Given the description of an element on the screen output the (x, y) to click on. 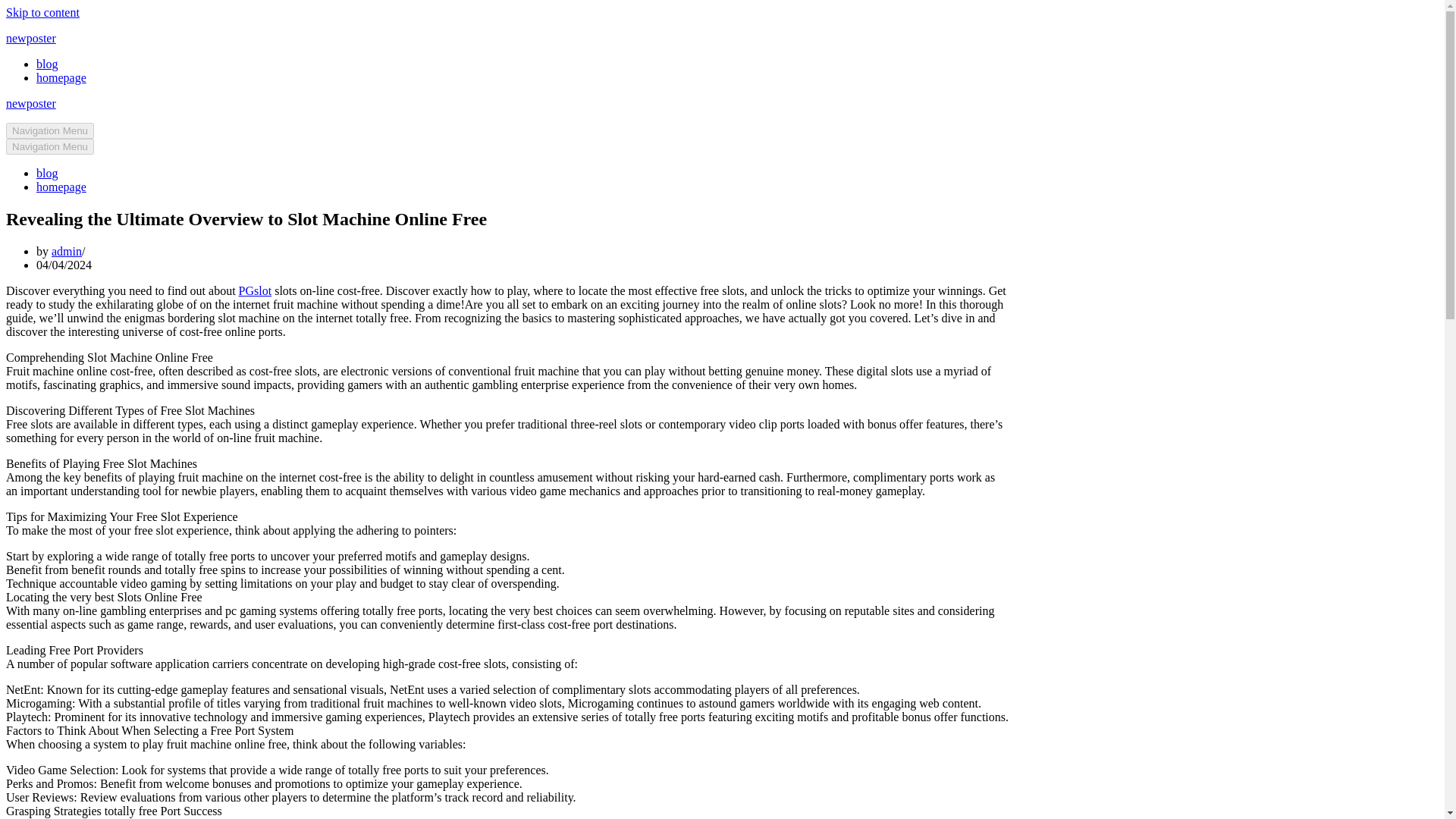
blog (47, 63)
blog (47, 173)
homepage (60, 77)
PGslot (255, 290)
admin (65, 250)
Skip to content (42, 11)
homepage (60, 186)
Navigation Menu (49, 130)
Posts by admin (65, 250)
Navigation Menu (49, 146)
